Given the description of an element on the screen output the (x, y) to click on. 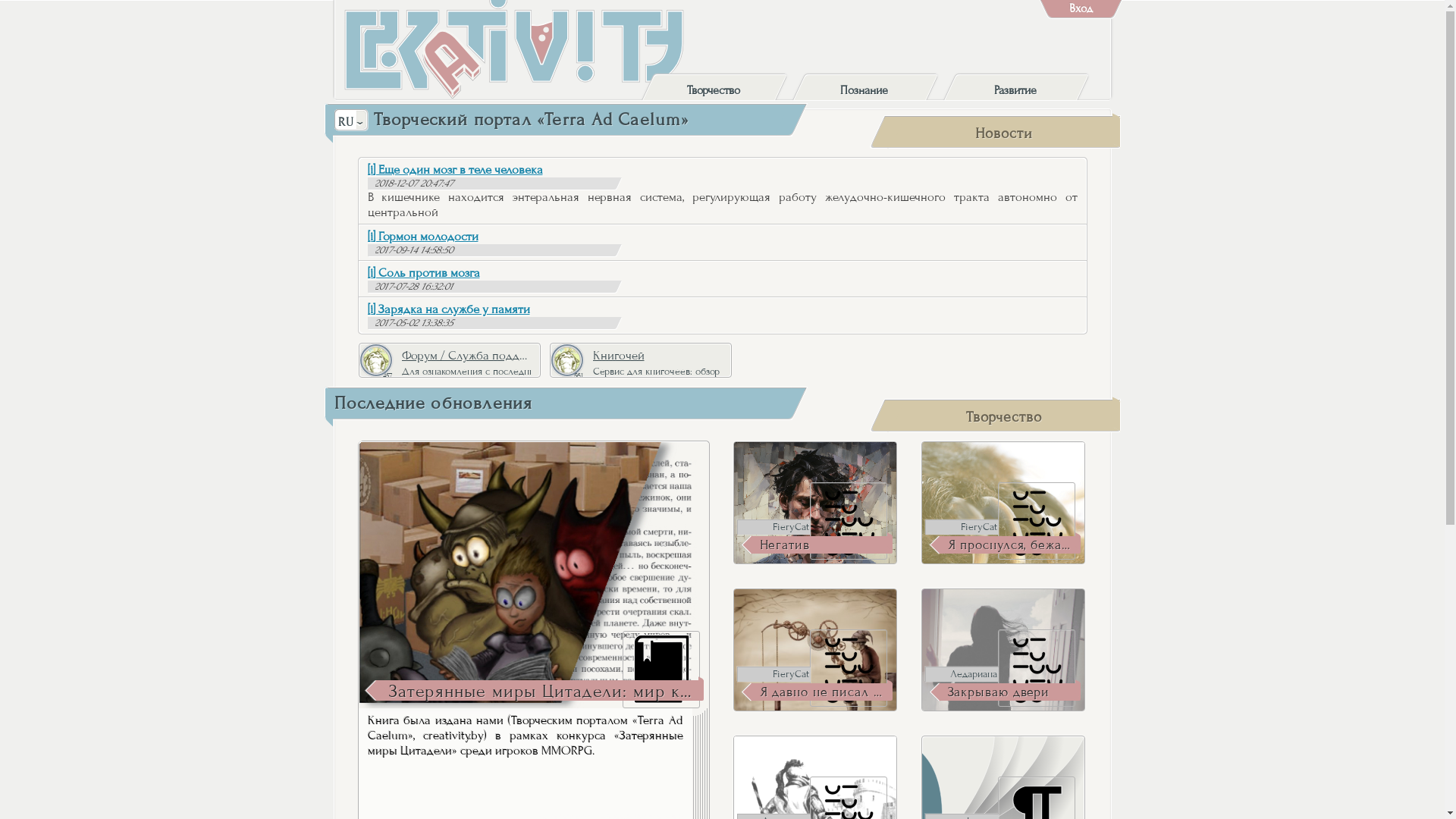
FieryCat Element type: text (773, 673)
FieryCat Element type: text (773, 526)
FieryCat Element type: text (961, 526)
